Given the description of an element on the screen output the (x, y) to click on. 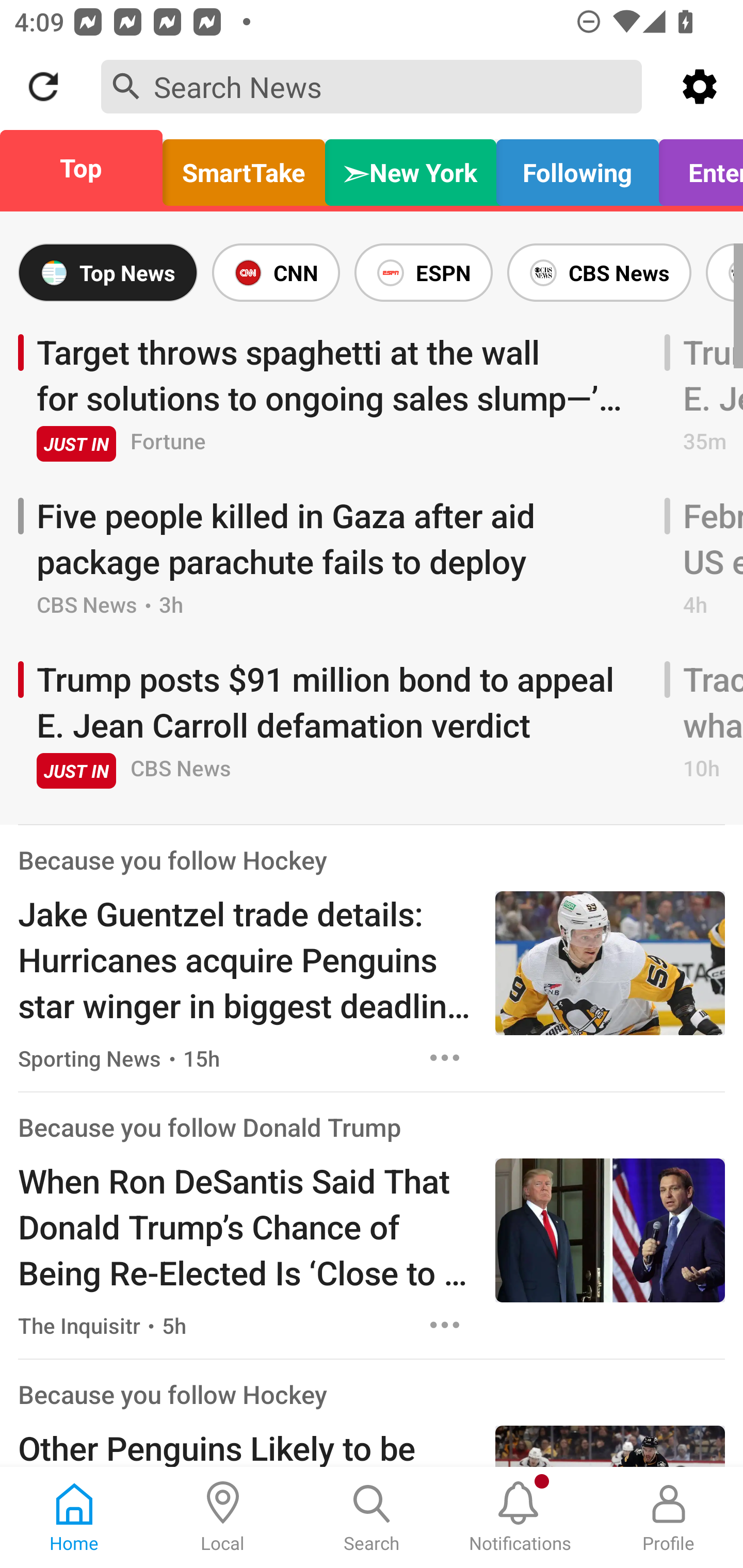
Search News (371, 85)
Top (86, 167)
SmartTake (243, 167)
➣New York (410, 167)
Following (577, 167)
CNN (275, 272)
ESPN (423, 272)
CBS News (599, 272)
JUST IN (75, 443)
JUST IN (75, 770)
Because you follow Hockey (171, 859)
Options (444, 1057)
Because you follow Donald Trump (209, 1127)
Options (444, 1324)
Because you follow Hockey (171, 1393)
Local (222, 1517)
Search (371, 1517)
Notifications, New notification Notifications (519, 1517)
Profile (668, 1517)
